Given the description of an element on the screen output the (x, y) to click on. 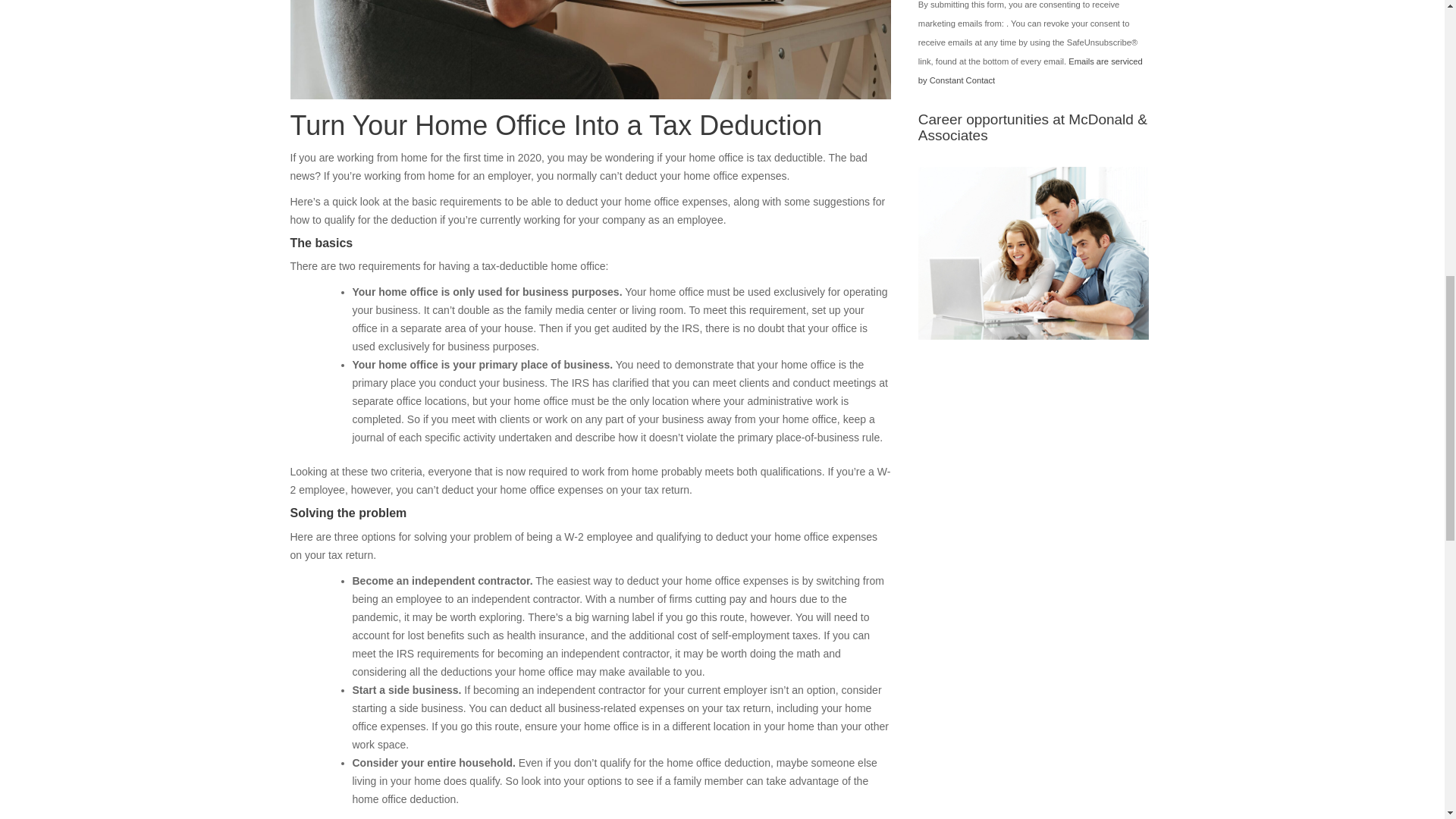
Emails are serviced by Constant Contact (1030, 70)
